Given the description of an element on the screen output the (x, y) to click on. 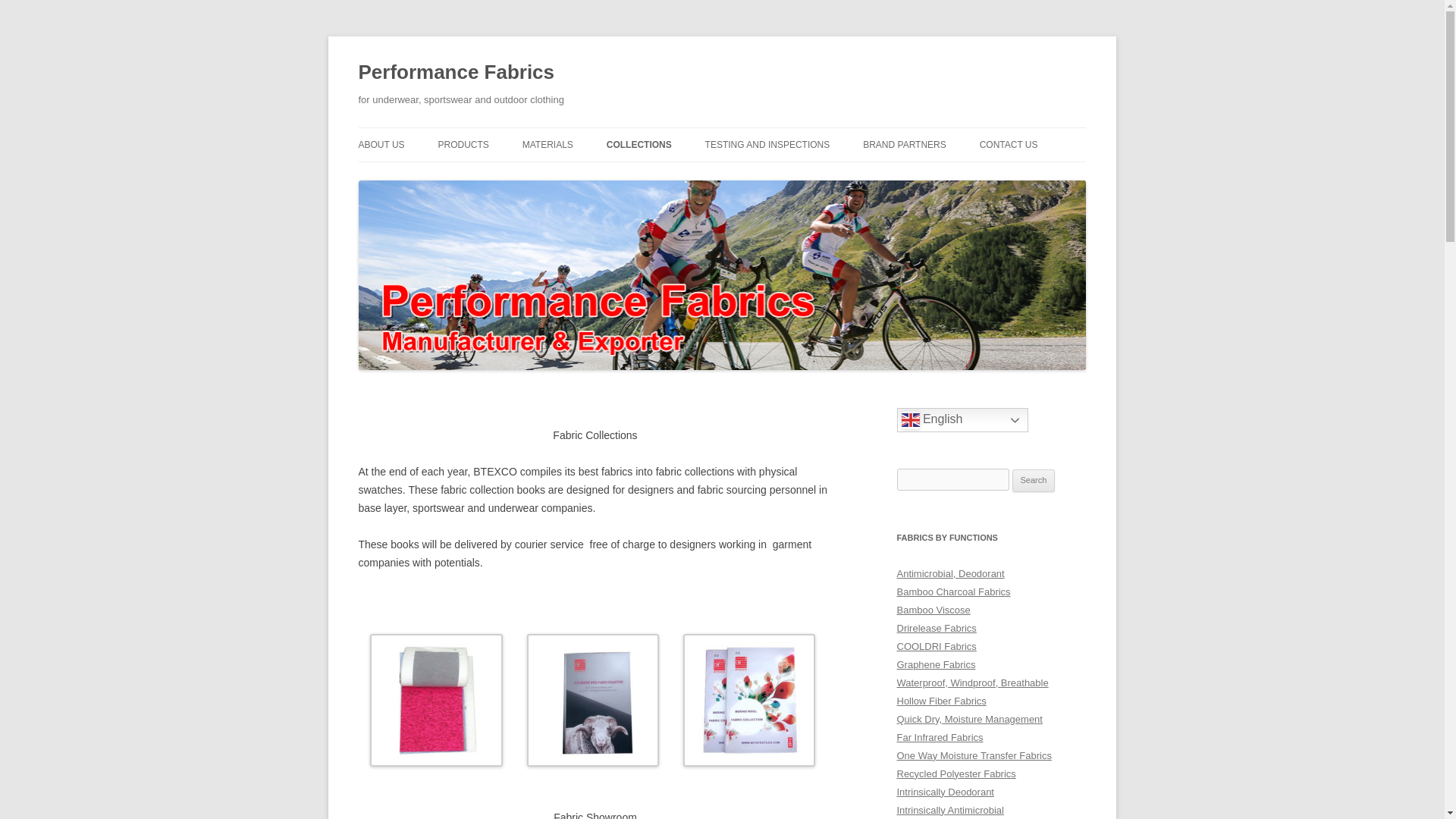
Waterproof, Windproof, Breathable (972, 682)
Intrinsically Antimicrobial (949, 809)
One Way Moisture Transfer Fabrics (973, 755)
Recycled Polyester Fabrics (955, 773)
Hollow Fiber Fabrics (940, 700)
Performance Fabrics (456, 72)
Intrinsically Deodorant (944, 791)
ABOUT US (381, 144)
Bamboo Charcoal Fabrics (953, 591)
COOLDRI Fabrics (935, 645)
English (961, 419)
Quick Dry, Moisture Management (969, 718)
COLLECTIONS (639, 144)
MATERIALS (547, 144)
